Given the description of an element on the screen output the (x, y) to click on. 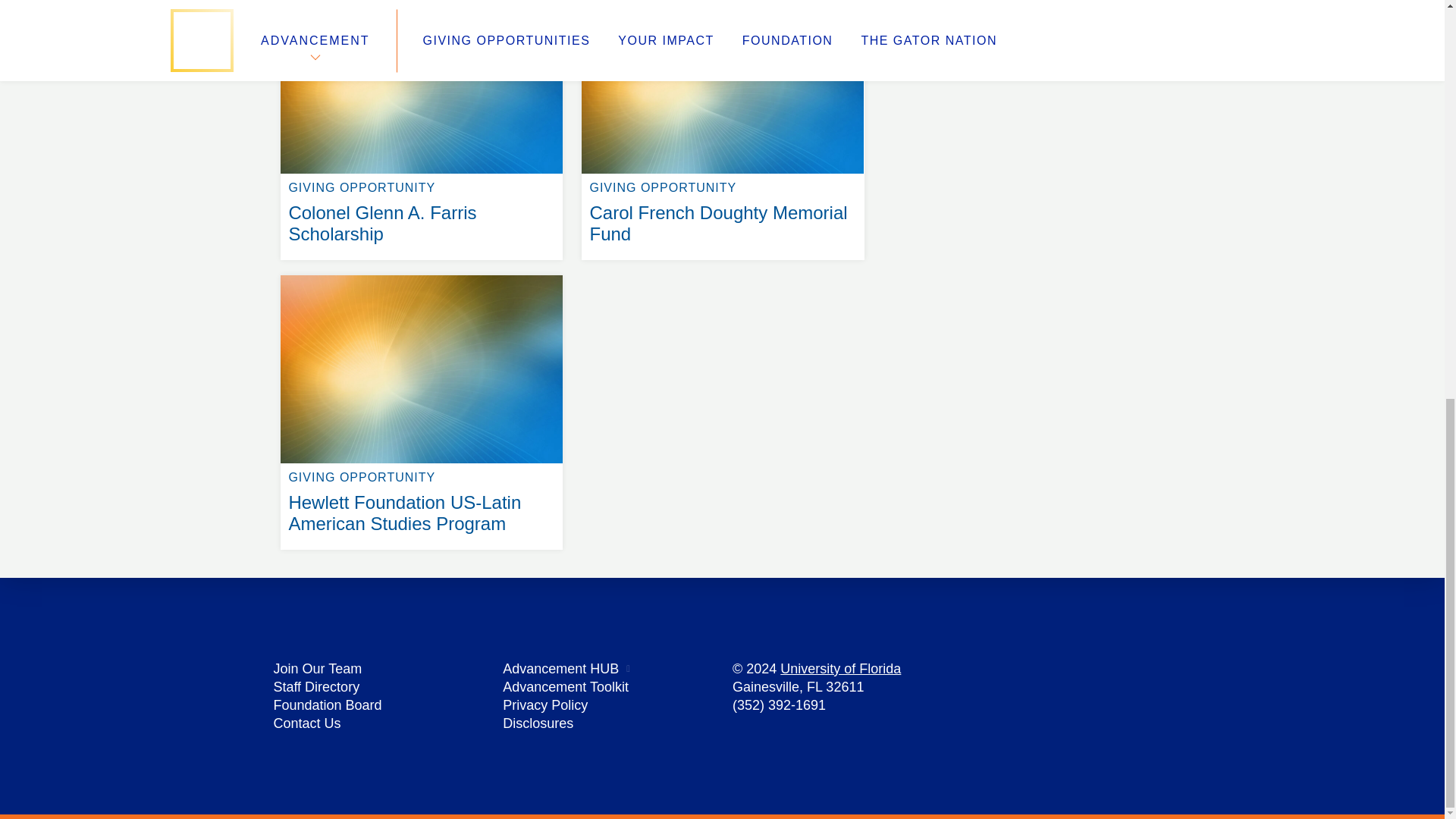
Staff Directory (316, 686)
University of Florida (840, 668)
Contact Us (306, 723)
Advancement HUB (560, 668)
Disclosures (537, 723)
Advancement Toolkit (565, 686)
Foundation Board (327, 704)
Privacy Policy (545, 704)
Join Our Team (317, 668)
